Given the description of an element on the screen output the (x, y) to click on. 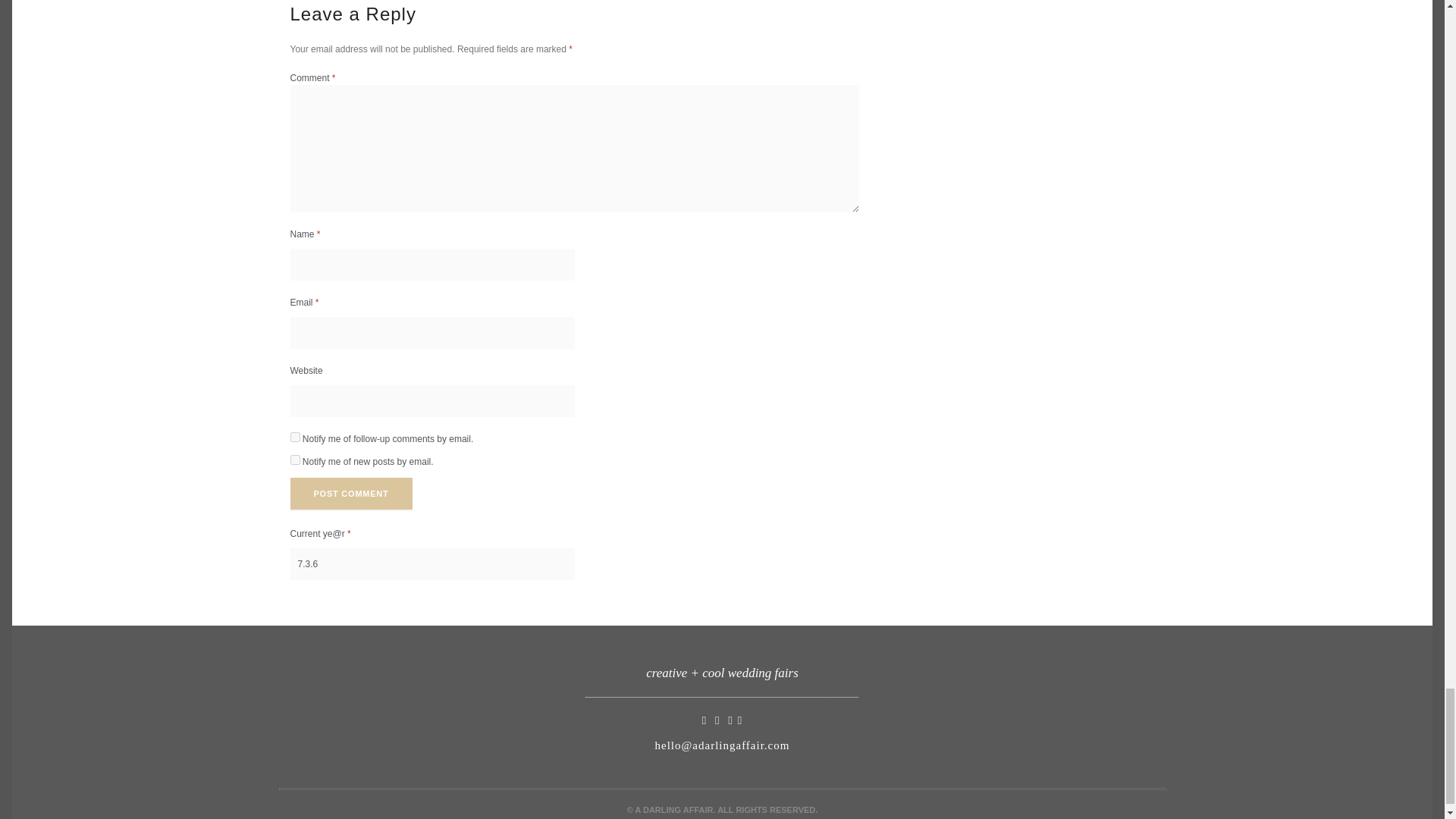
7.3.6 (431, 563)
subscribe (294, 460)
Post Comment (350, 493)
Post Comment (350, 493)
subscribe (294, 437)
